Given the description of an element on the screen output the (x, y) to click on. 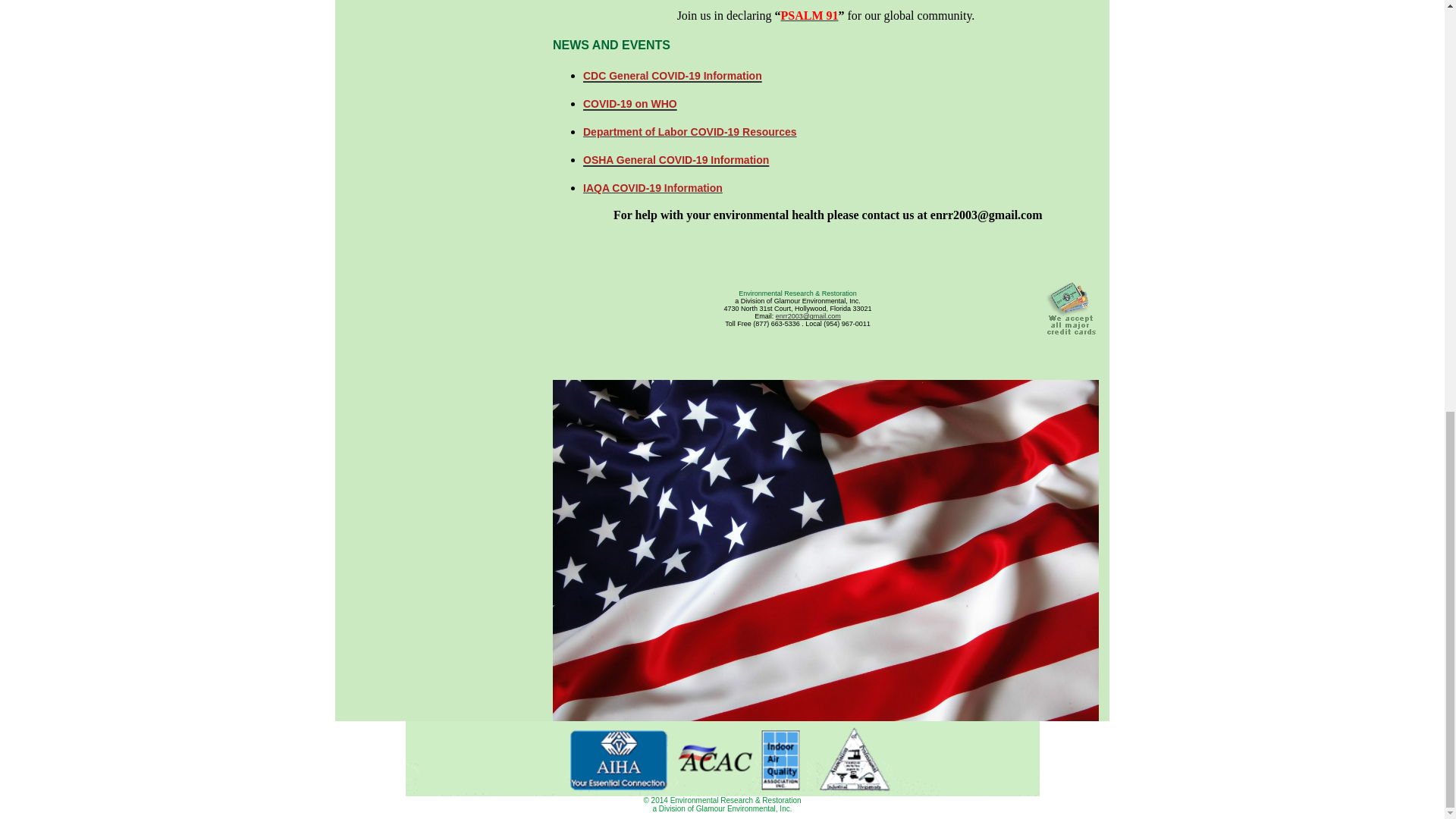
COVID-19 on WHO (630, 101)
Department of Labor COVID-19 Resources (689, 132)
IAQA COVID-19 Information (652, 187)
PSALM 91 (809, 15)
OSHA General COVID-19 Information (675, 157)
CDC General COVID-19 Information (672, 73)
